Given the description of an element on the screen output the (x, y) to click on. 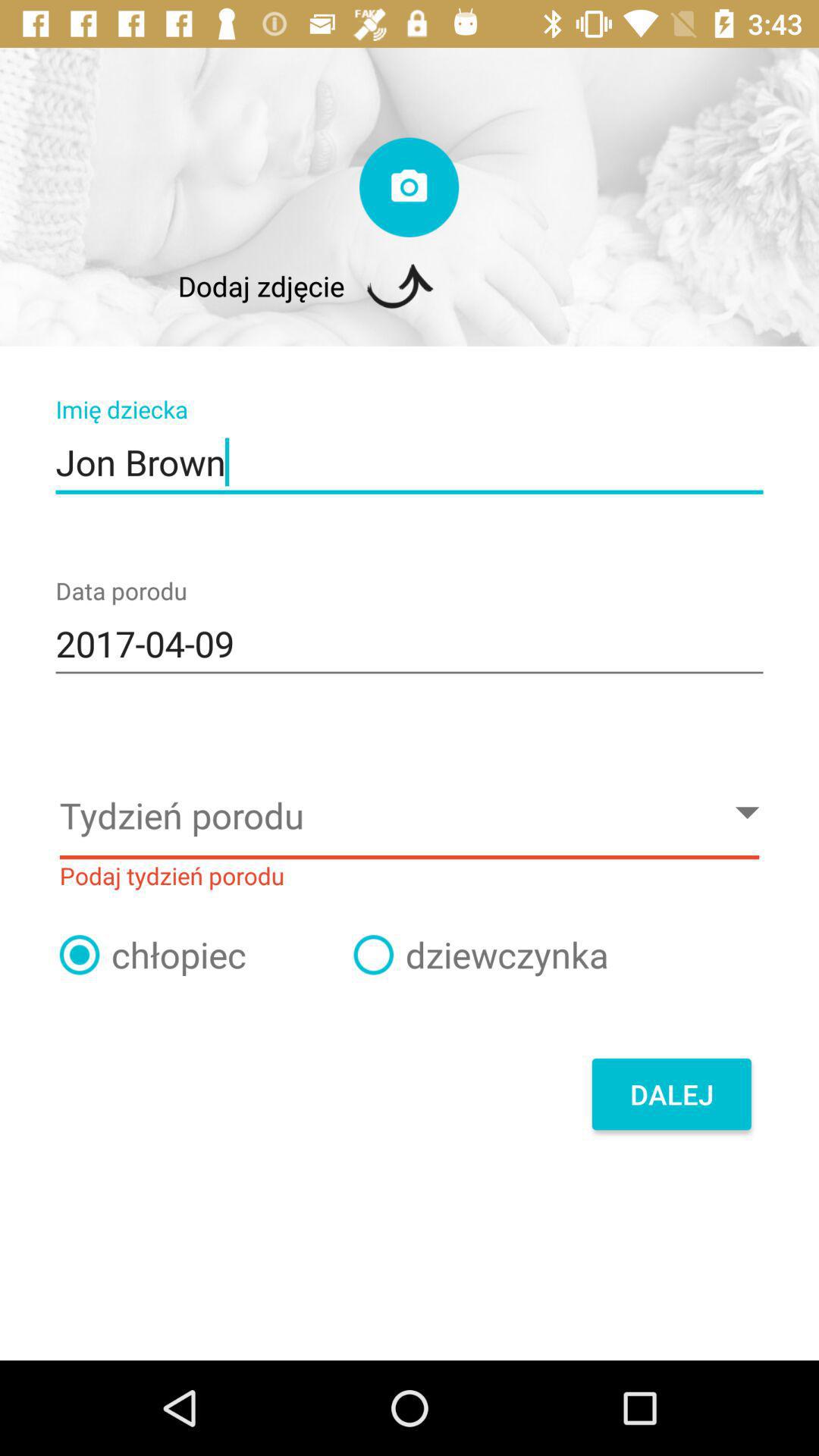
select item (373, 954)
